Given the description of an element on the screen output the (x, y) to click on. 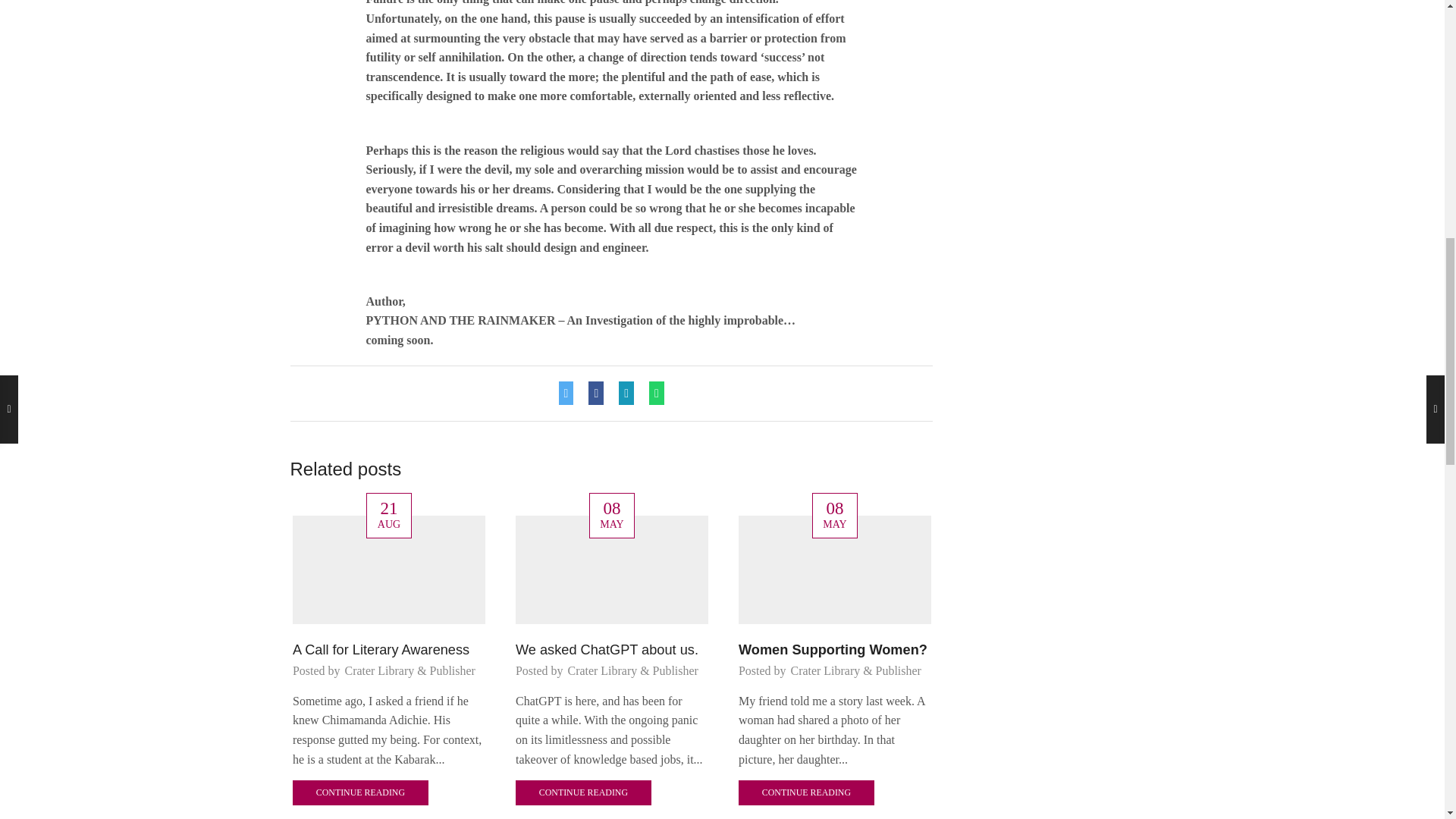
whatsapp (652, 393)
Facebook (595, 393)
linkedin (626, 393)
Twitter (569, 393)
